Given the description of an element on the screen output the (x, y) to click on. 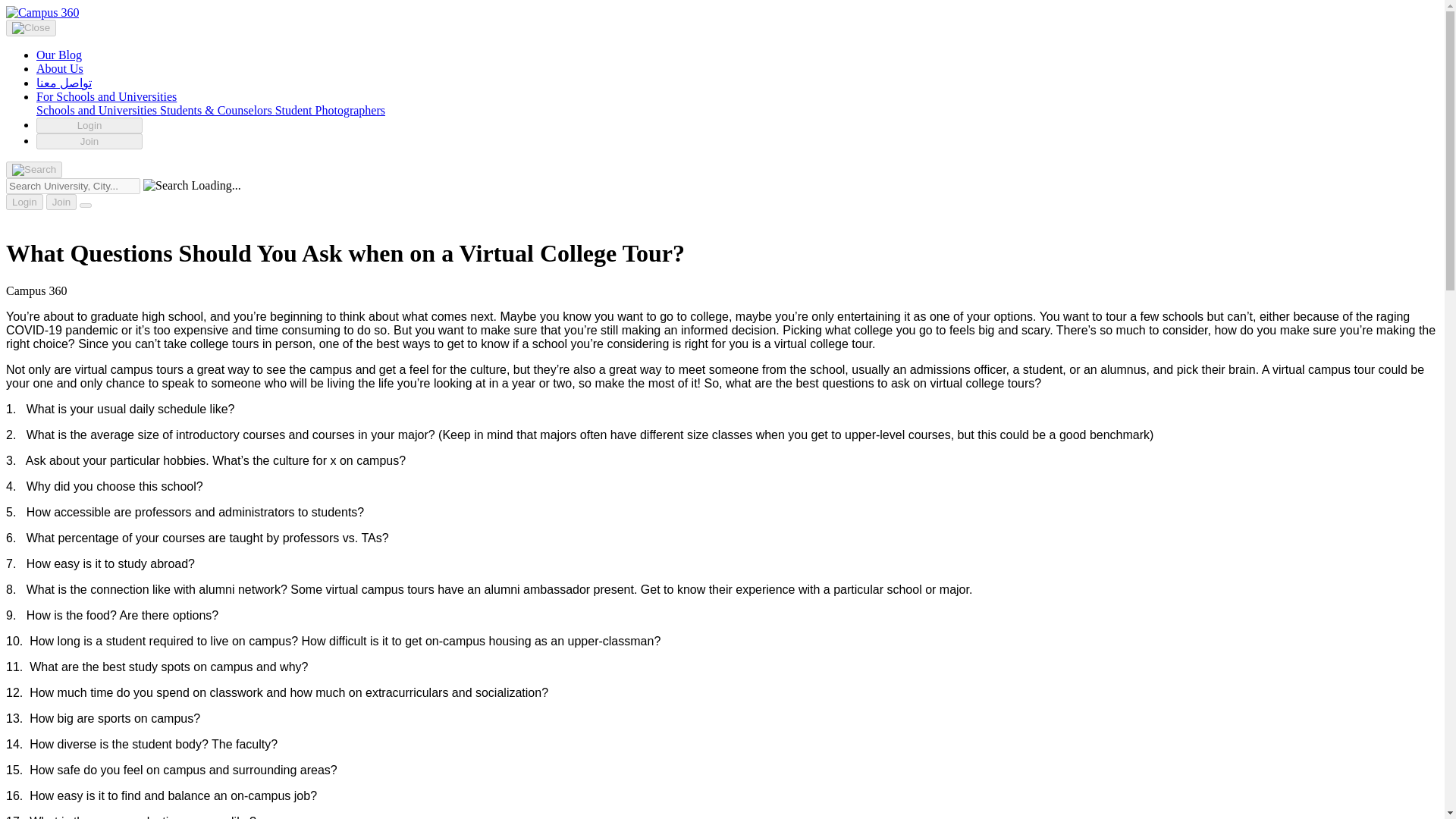
Search University, City... (72, 186)
For Schools and Universities (106, 96)
Join (89, 141)
Join (61, 201)
Schools and Universities (98, 110)
Login (24, 201)
Our Blog (58, 54)
About Us (59, 68)
Student Photographers (330, 110)
Login (89, 125)
